Given the description of an element on the screen output the (x, y) to click on. 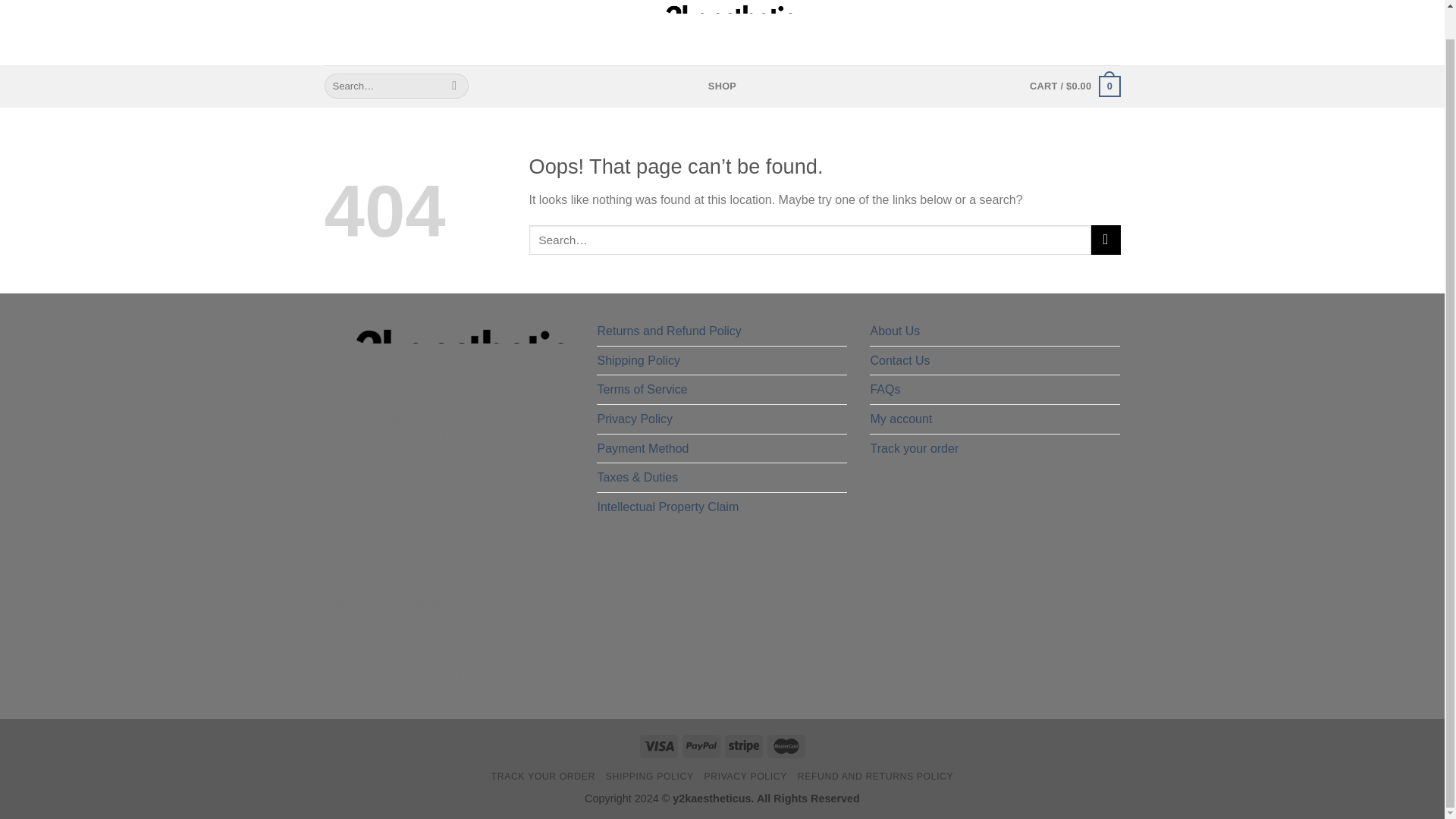
SHIPPING POLICY (649, 776)
y2kaestheticus.com (721, 20)
Contact Us (899, 360)
Search (454, 86)
FAQs (884, 389)
TRACK YOUR ORDER (543, 776)
Returns and Refund Policy (668, 330)
About Us (894, 330)
Cart (1074, 86)
My account (900, 419)
